Given the description of an element on the screen output the (x, y) to click on. 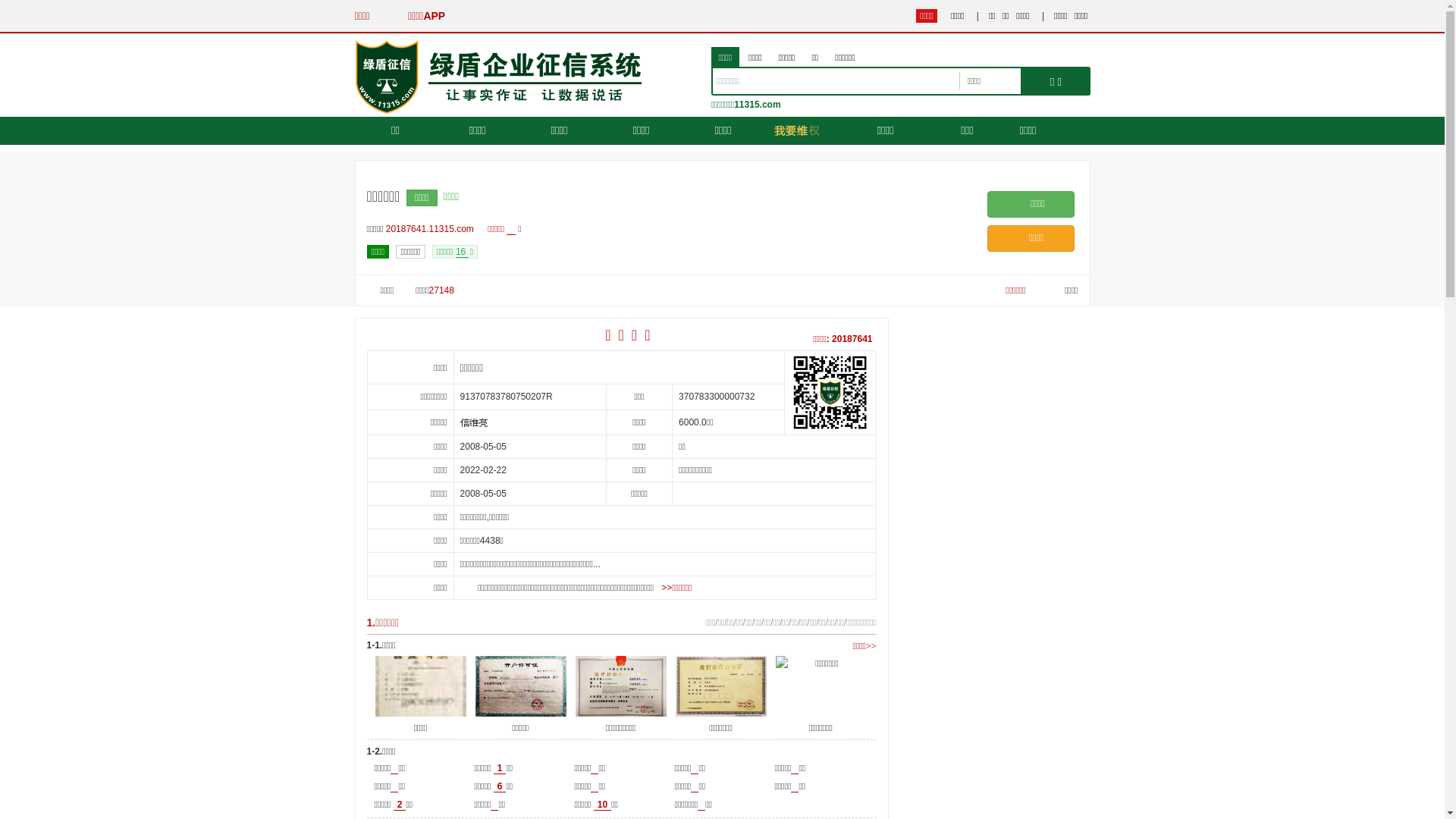
10 Element type: text (602, 804)
1 Element type: text (499, 768)
6 Element type: text (499, 786)
2 Element type: text (399, 804)
20187641.11315.com Element type: text (433, 228)
